Given the description of an element on the screen output the (x, y) to click on. 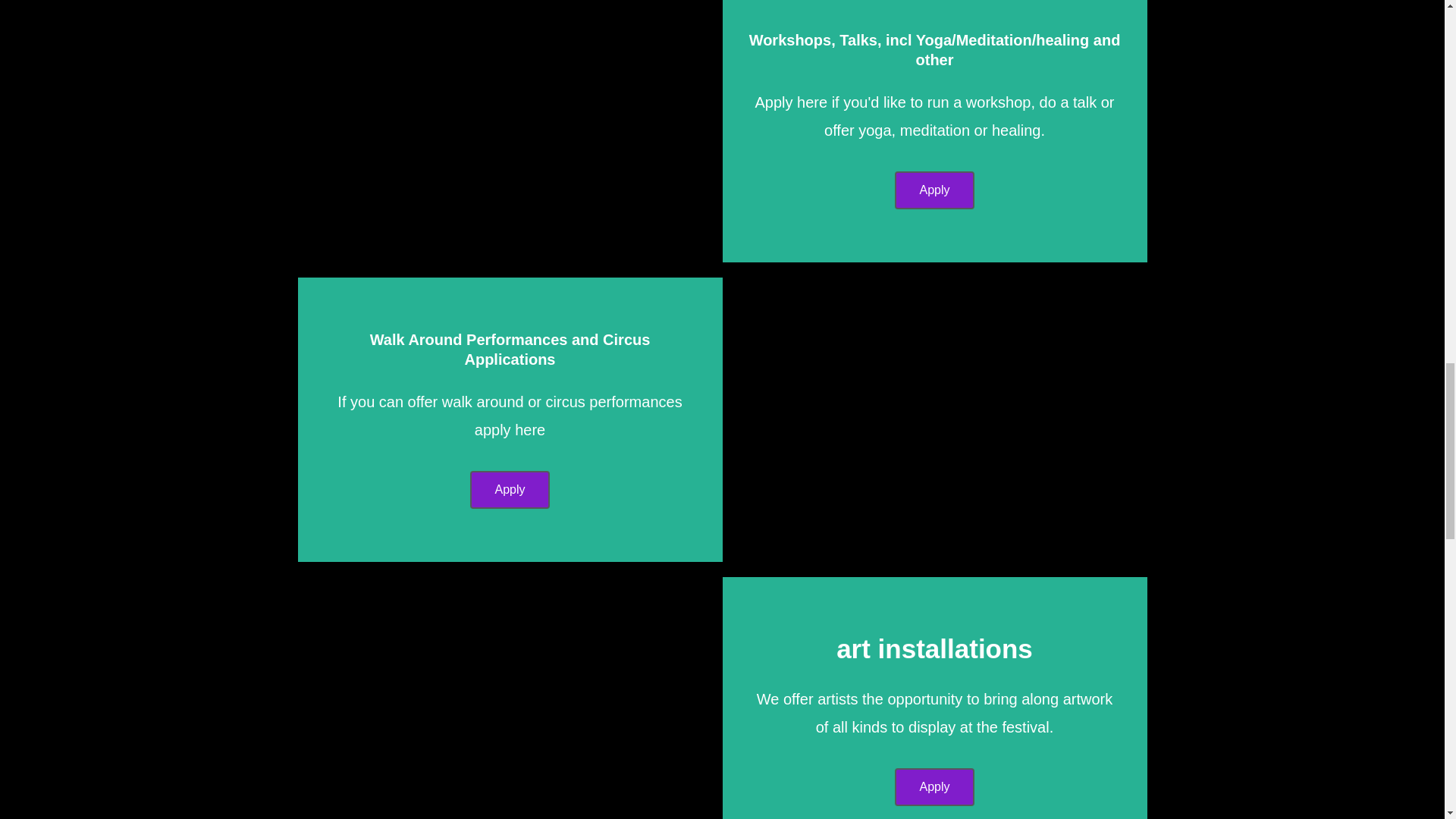
Apply (509, 489)
Apply (934, 786)
Apply (934, 190)
